Given the description of an element on the screen output the (x, y) to click on. 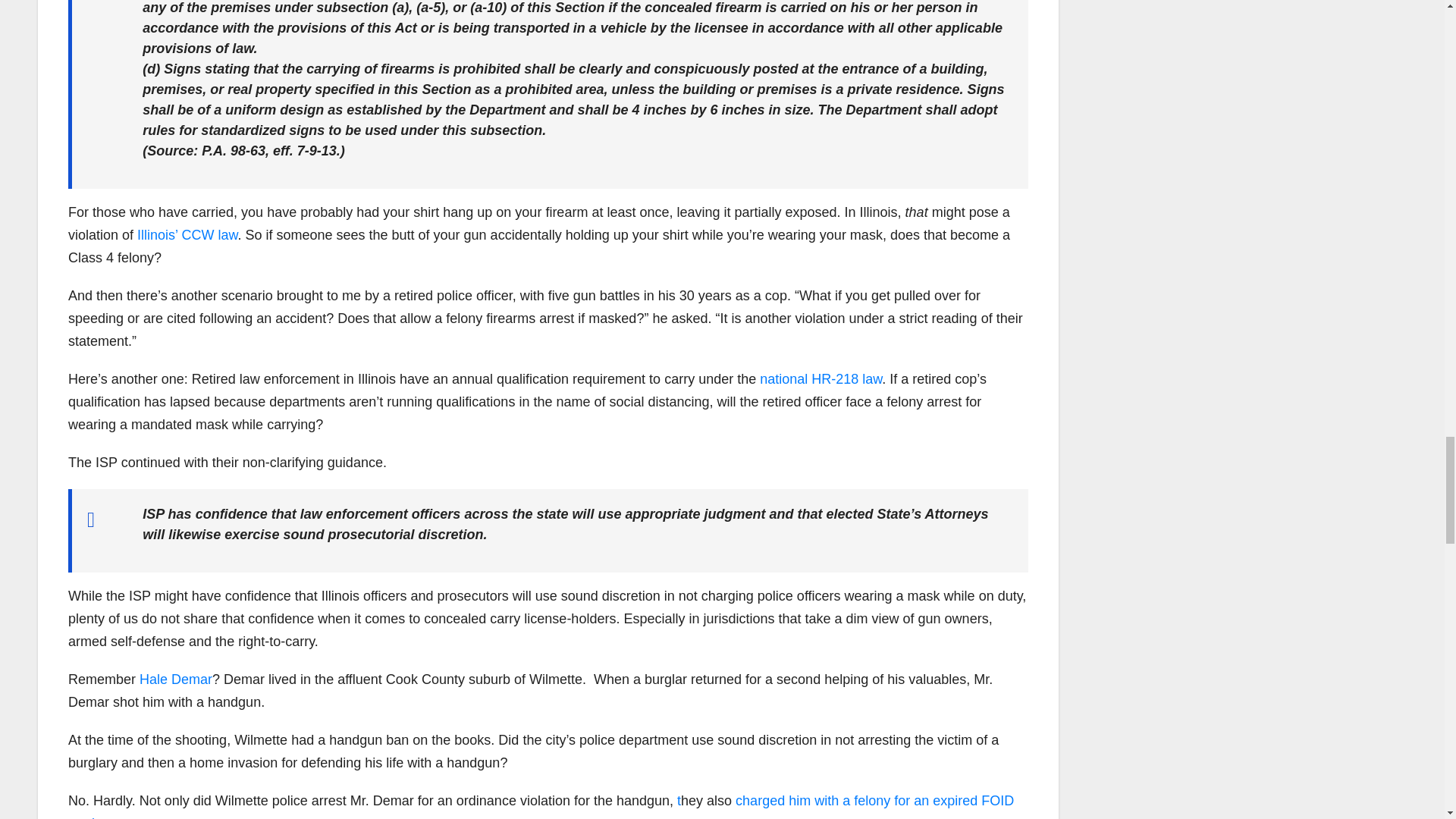
national HR-218 law (821, 378)
charged him with a felony for an expired FOID card (540, 806)
Hale Demar (175, 679)
